Given the description of an element on the screen output the (x, y) to click on. 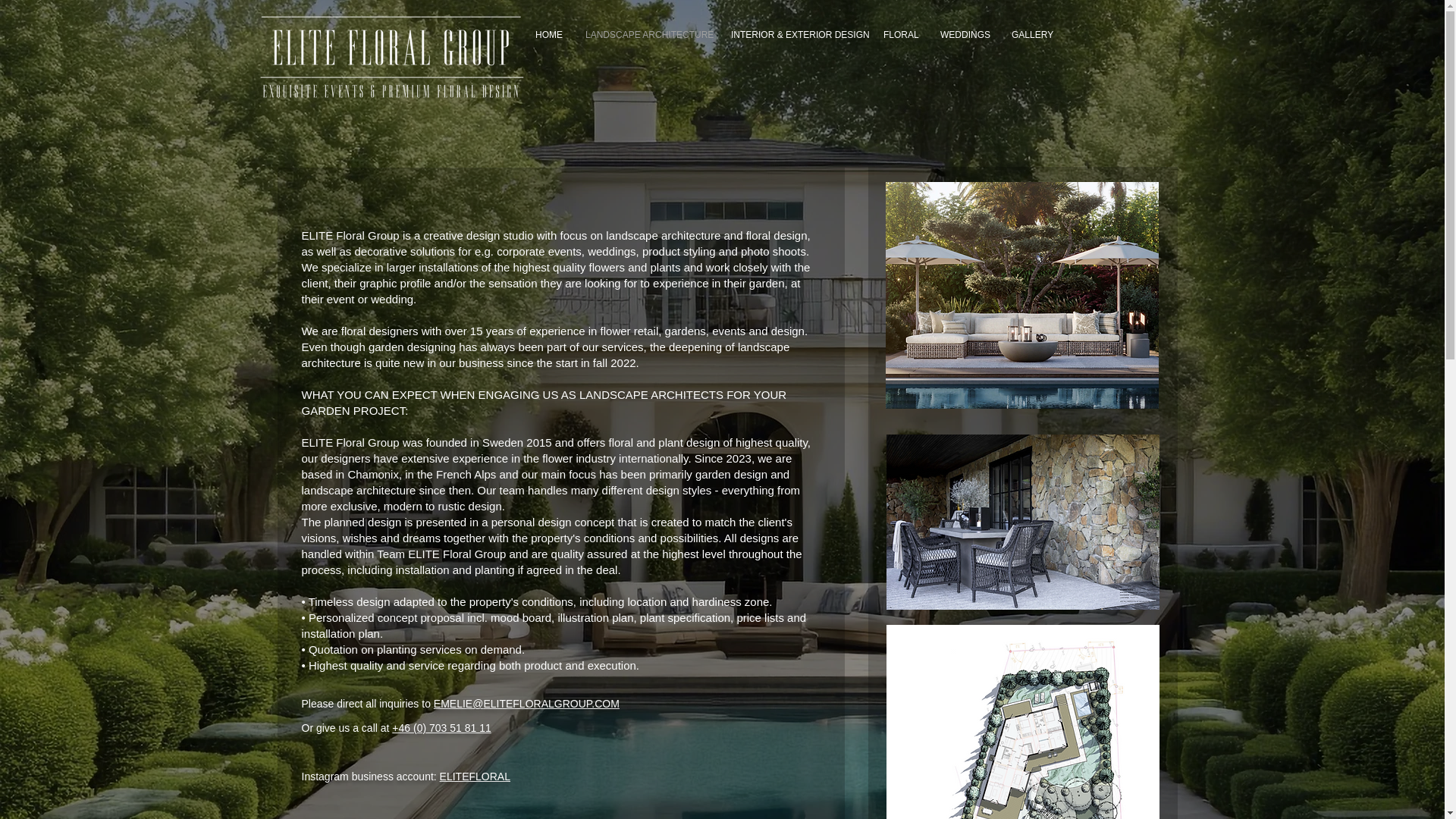
WHITEGIF.gif (389, 57)
GALLERY (1030, 34)
FLORAL (900, 34)
LANDSCAPE ARCHITECTURE (646, 34)
HOME (548, 34)
ELITEFLORAL (475, 776)
WEDDINGS (964, 34)
